Given the description of an element on the screen output the (x, y) to click on. 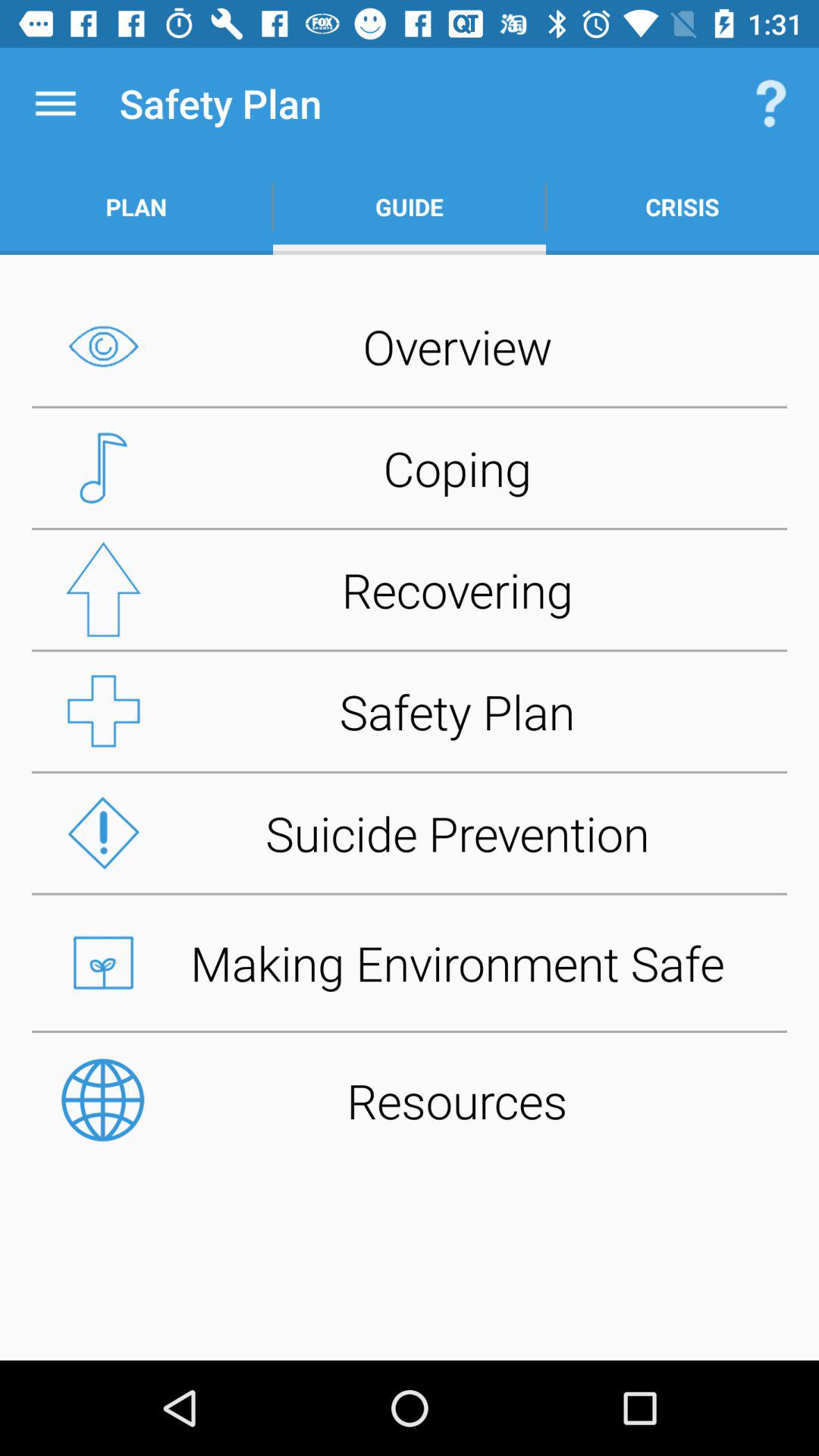
flip to suicide prevention (409, 832)
